Given the description of an element on the screen output the (x, y) to click on. 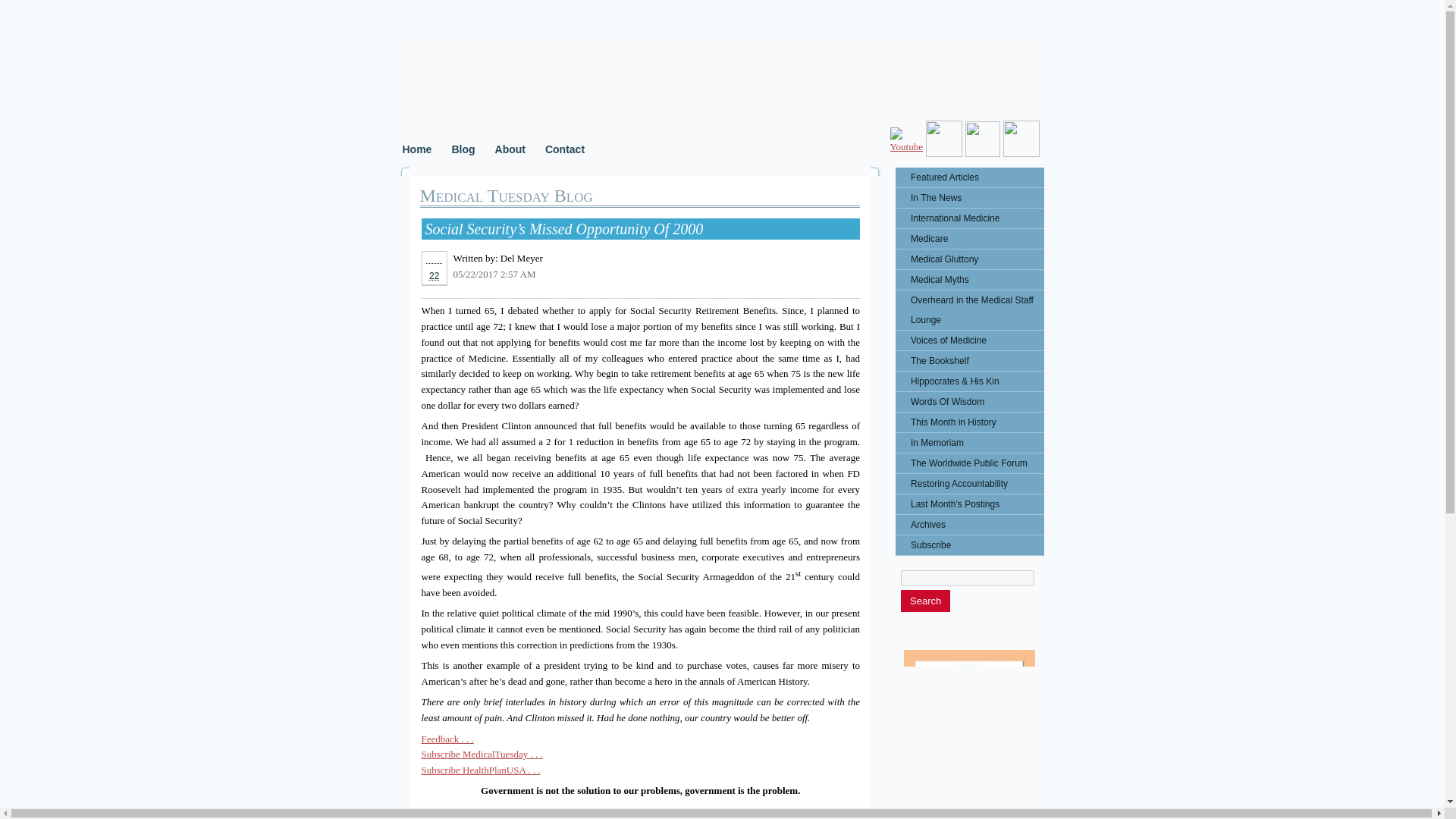
The Worldwide Public Forum (969, 463)
Subscribe HealthPlanUSA . . . (481, 769)
Words Of Wisdom (969, 401)
In The News (969, 198)
The Bookshelf (969, 361)
Featured Articles (969, 177)
Feedback . . . (448, 738)
Search (925, 600)
About (509, 148)
Archives (969, 524)
